Given the description of an element on the screen output the (x, y) to click on. 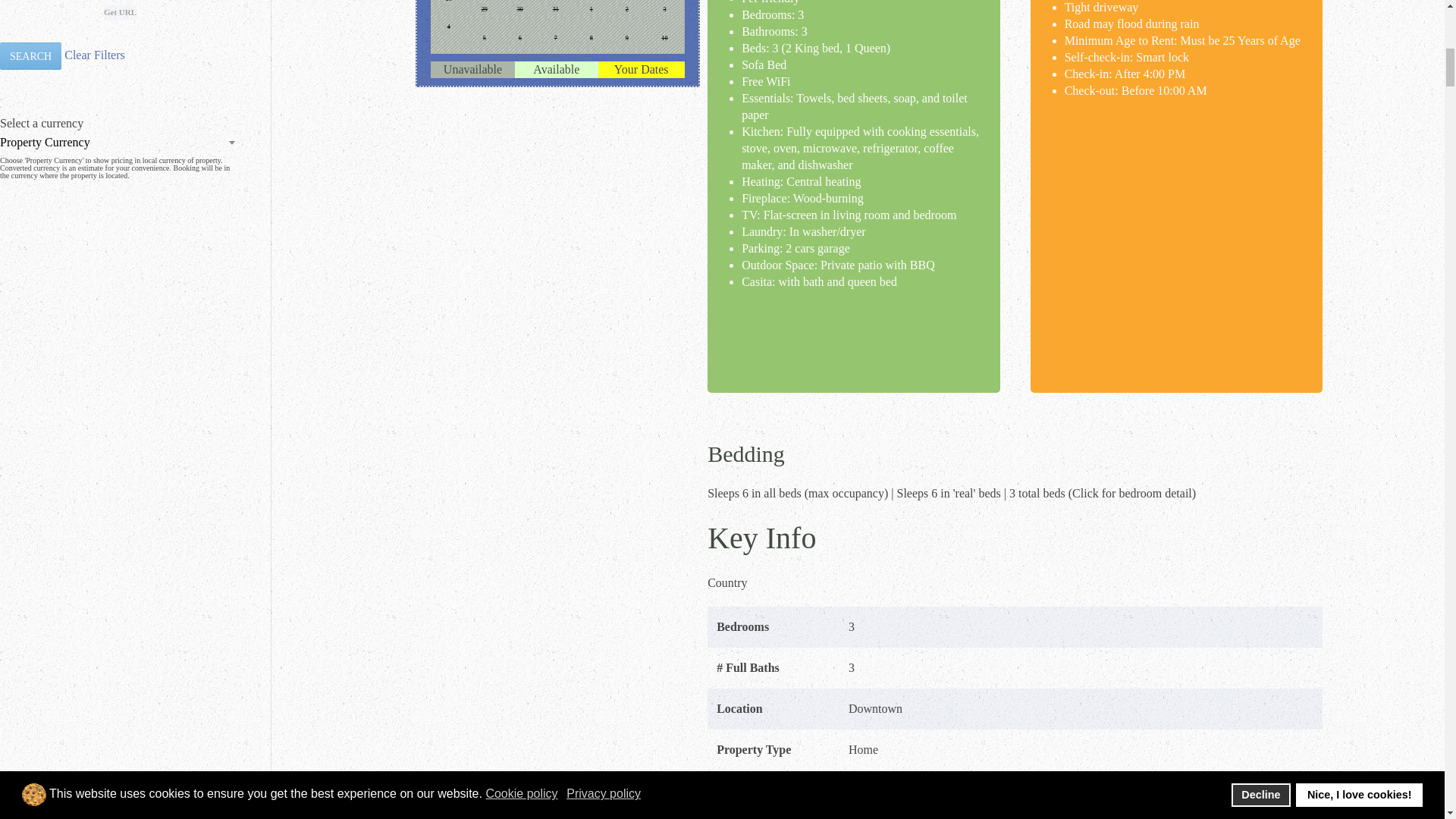
Property Currency (120, 142)
